Given the description of an element on the screen output the (x, y) to click on. 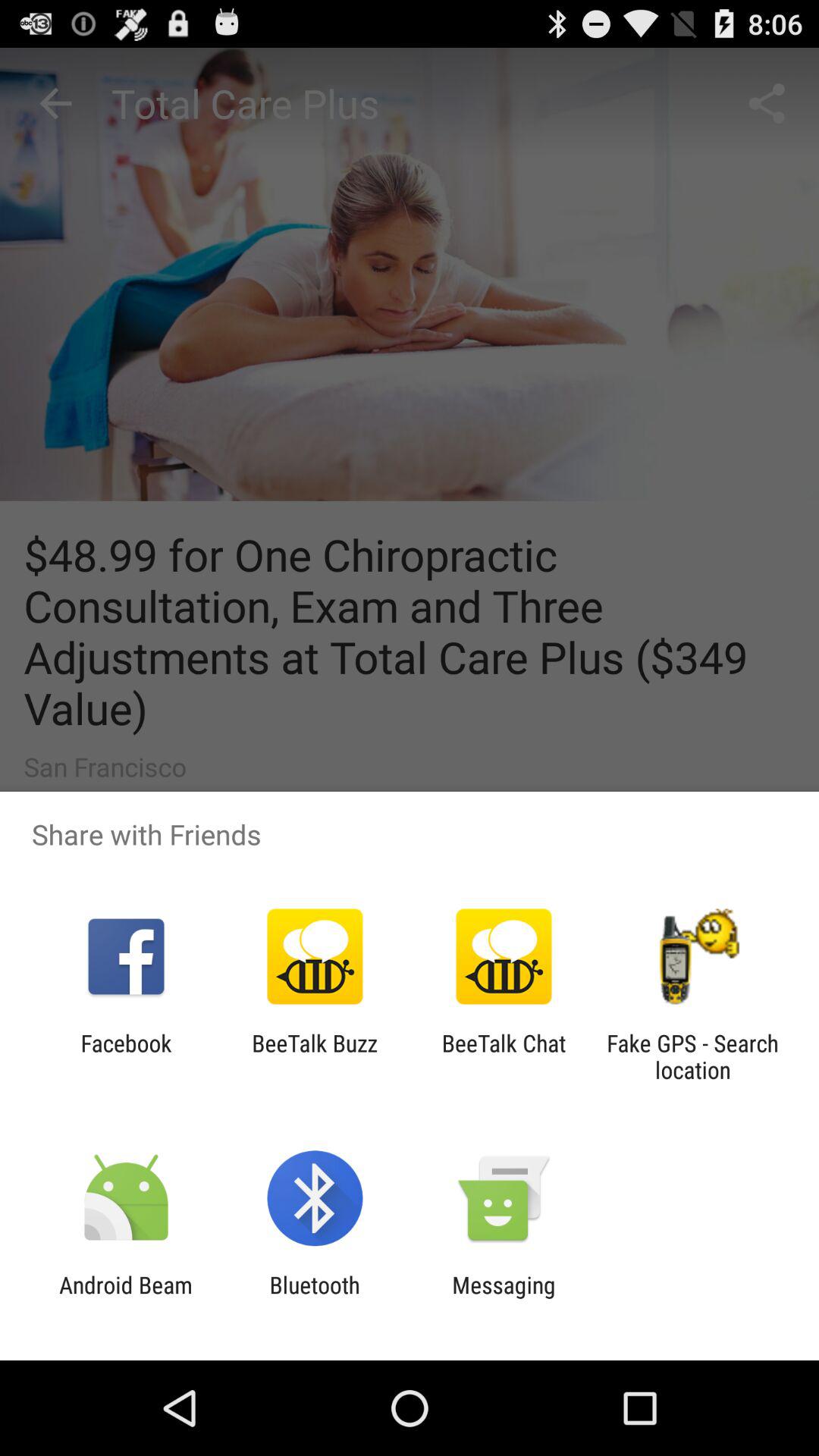
turn on app next to android beam app (314, 1298)
